Given the description of an element on the screen output the (x, y) to click on. 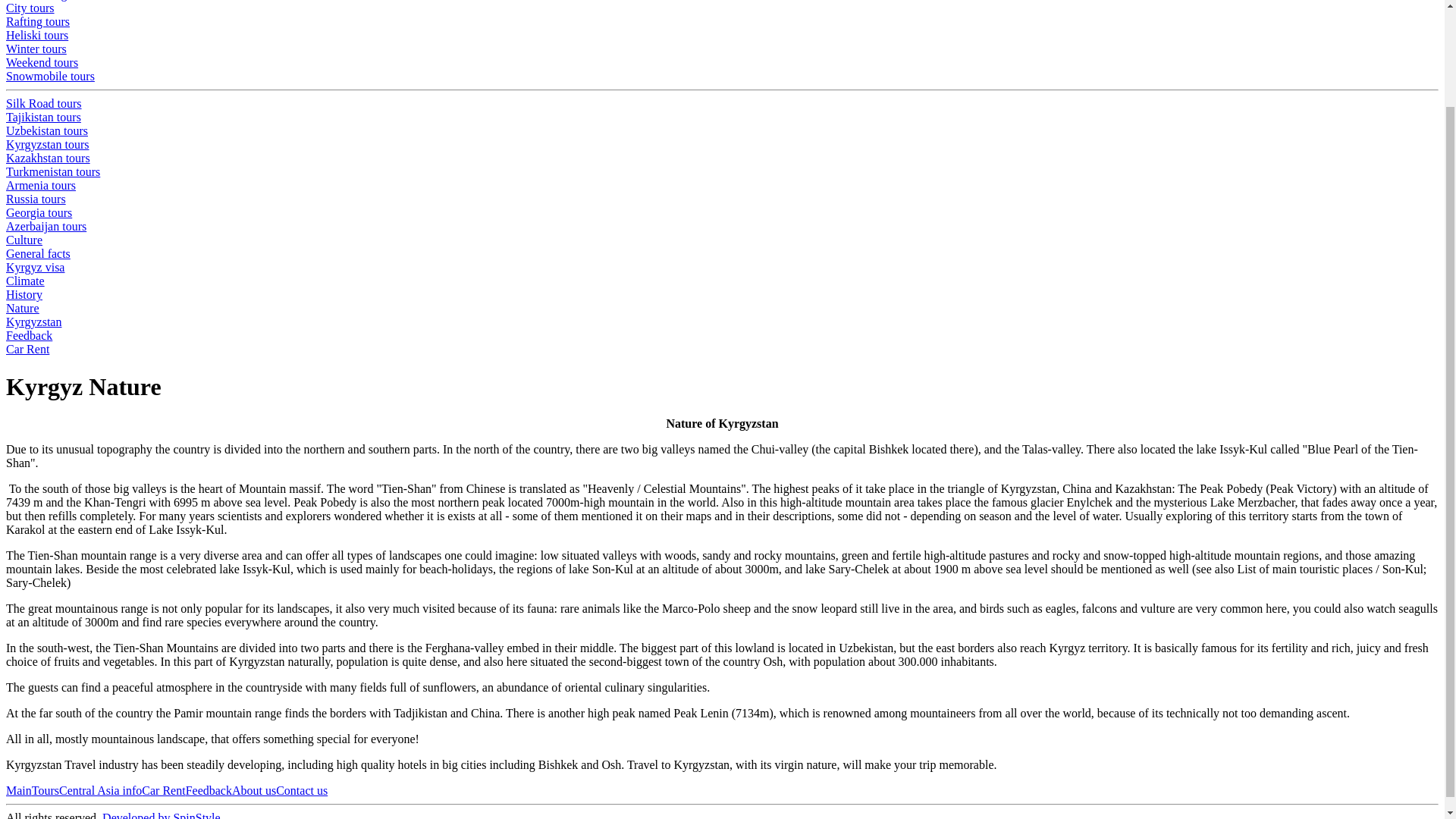
Rafting tours (37, 21)
Kyrgyz visa (34, 267)
Turkmenistan tours (52, 171)
Azerbaijan tours (45, 226)
Weekend tours (41, 62)
Horse riding (35, 0)
Snowmobile tours (49, 75)
Car Rent (27, 349)
Nature (22, 308)
Georgia tours (38, 212)
